Given the description of an element on the screen output the (x, y) to click on. 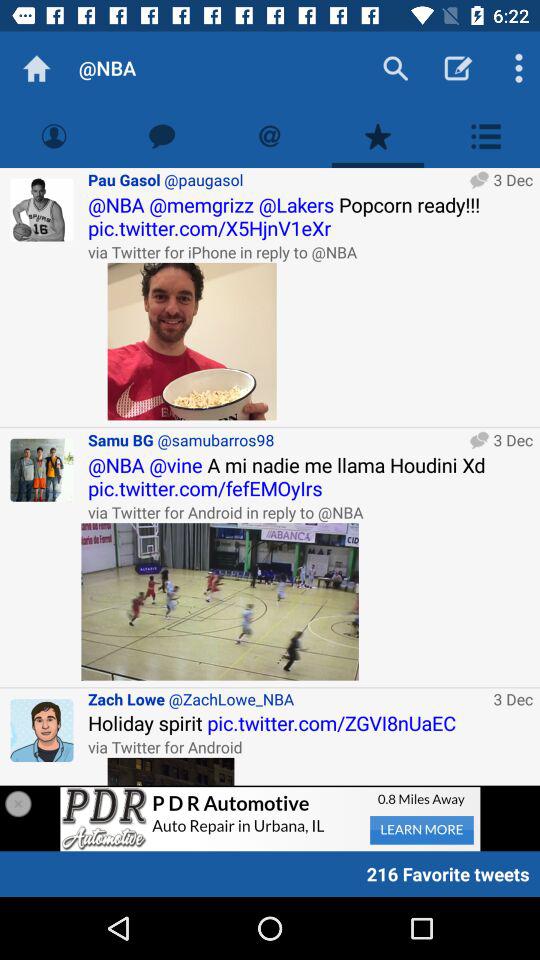
add to favorites (378, 136)
